Given the description of an element on the screen output the (x, y) to click on. 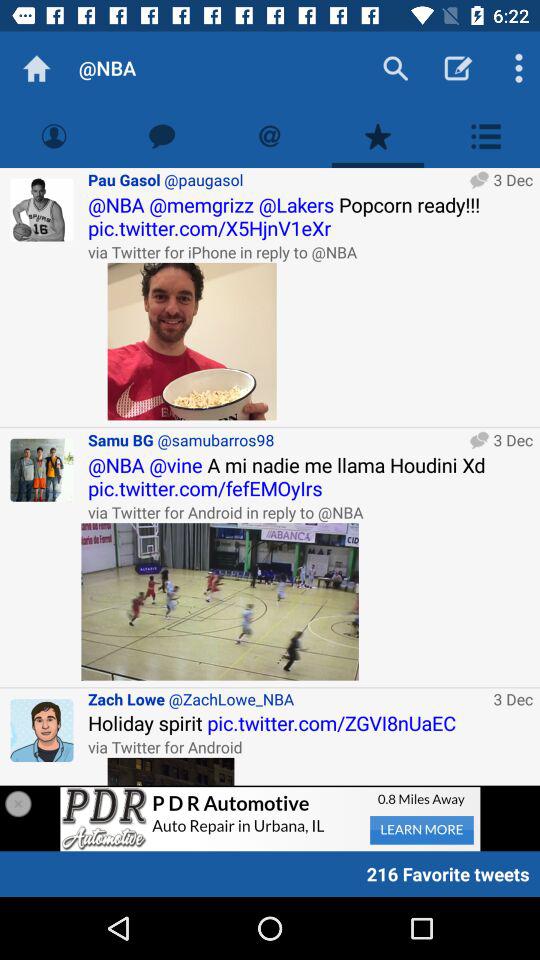
add to favorites (378, 136)
